Given the description of an element on the screen output the (x, y) to click on. 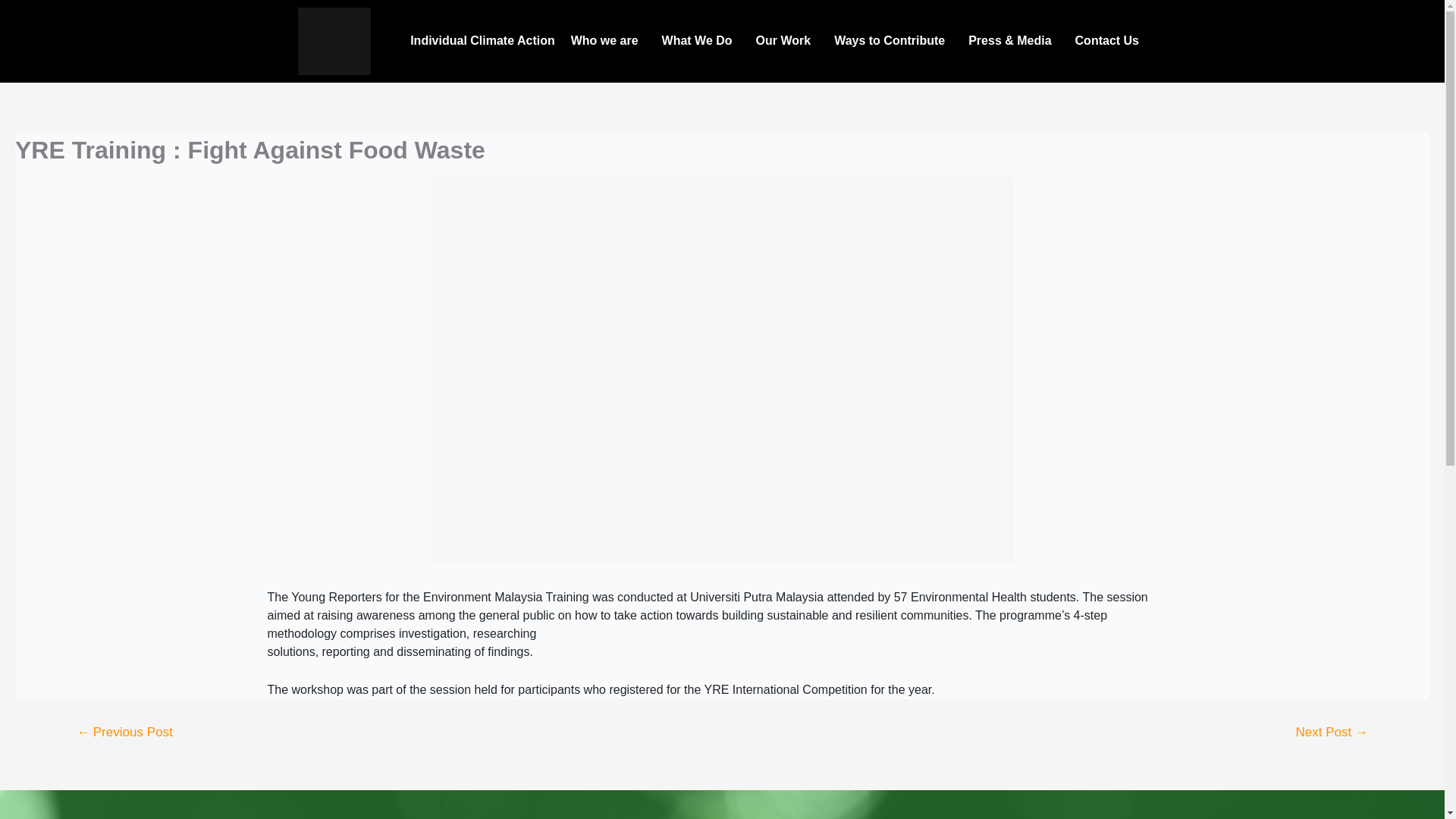
What We Do (700, 40)
Header logo (333, 41)
Individual Climate Action (483, 40)
Our Work (787, 40)
Ways to Contribute (893, 40)
Who we are (607, 40)
